Given the description of an element on the screen output the (x, y) to click on. 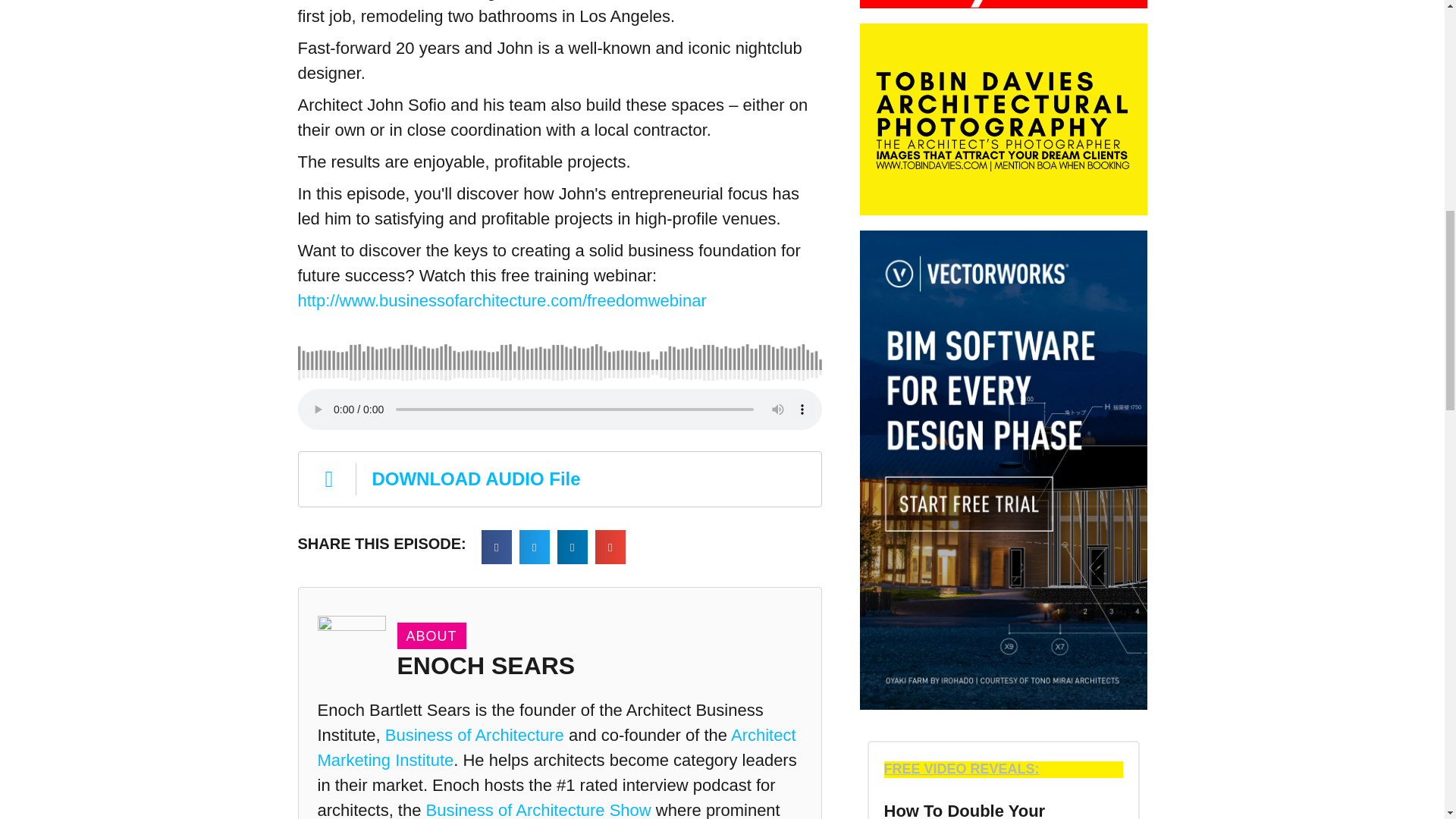
DOWNLOAD AUDIO File (559, 478)
Business of Architecture (474, 734)
Architect Marketing Institute (555, 747)
Business of Architecture Show (538, 809)
